Given the description of an element on the screen output the (x, y) to click on. 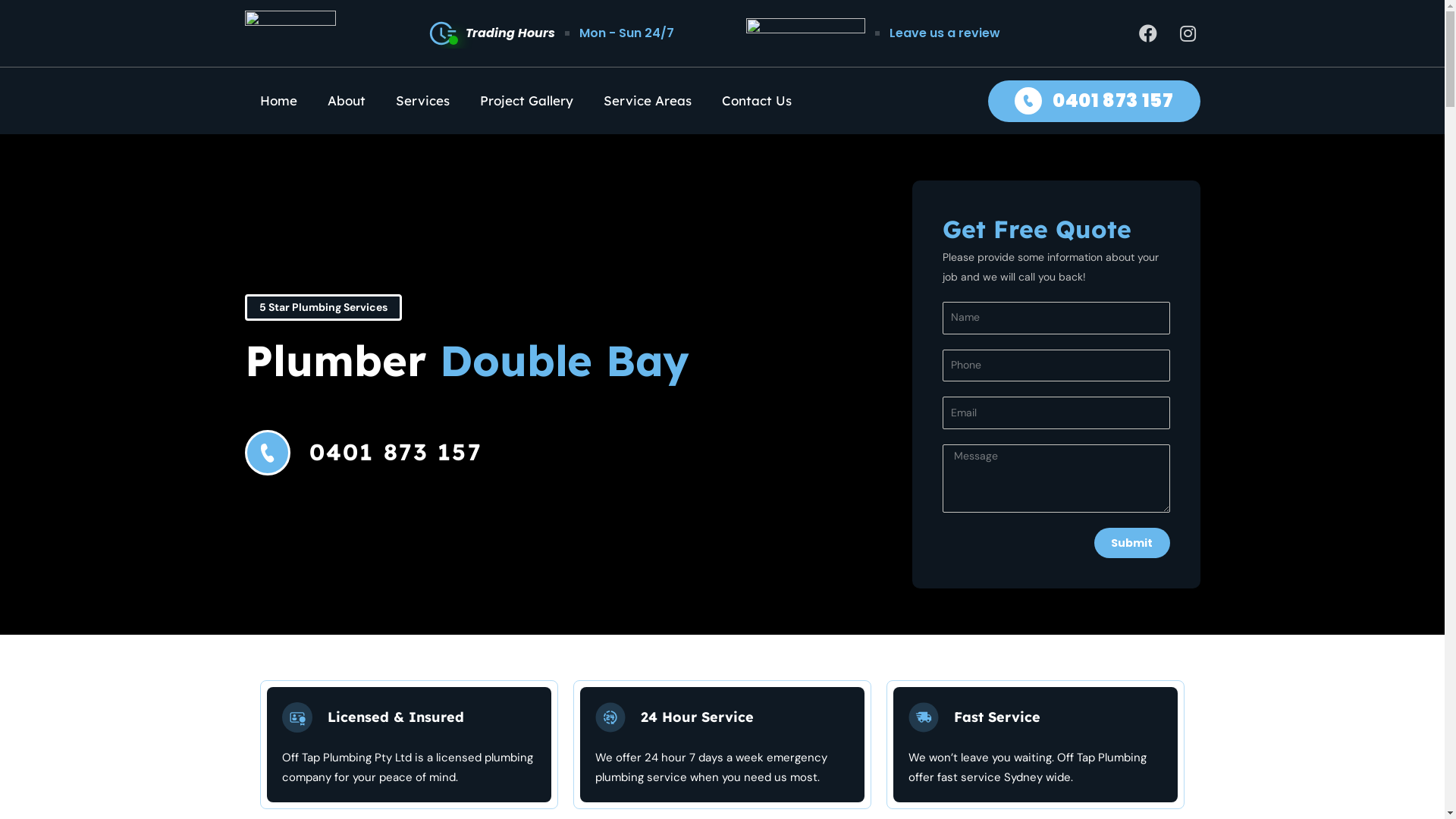
Services Element type: text (422, 100)
Leave us a review Element type: text (944, 32)
Service Areas Element type: text (647, 100)
About Element type: text (346, 100)
Project Gallery Element type: text (525, 100)
Trading Hours Element type: text (491, 33)
Home Element type: text (277, 100)
Submit Element type: text (1131, 542)
0401 873 157 Element type: text (479, 451)
Mon - Sun 24/7 Element type: text (626, 32)
0401 873 157 Element type: text (1093, 101)
Contact Us Element type: text (756, 100)
